Given the description of an element on the screen output the (x, y) to click on. 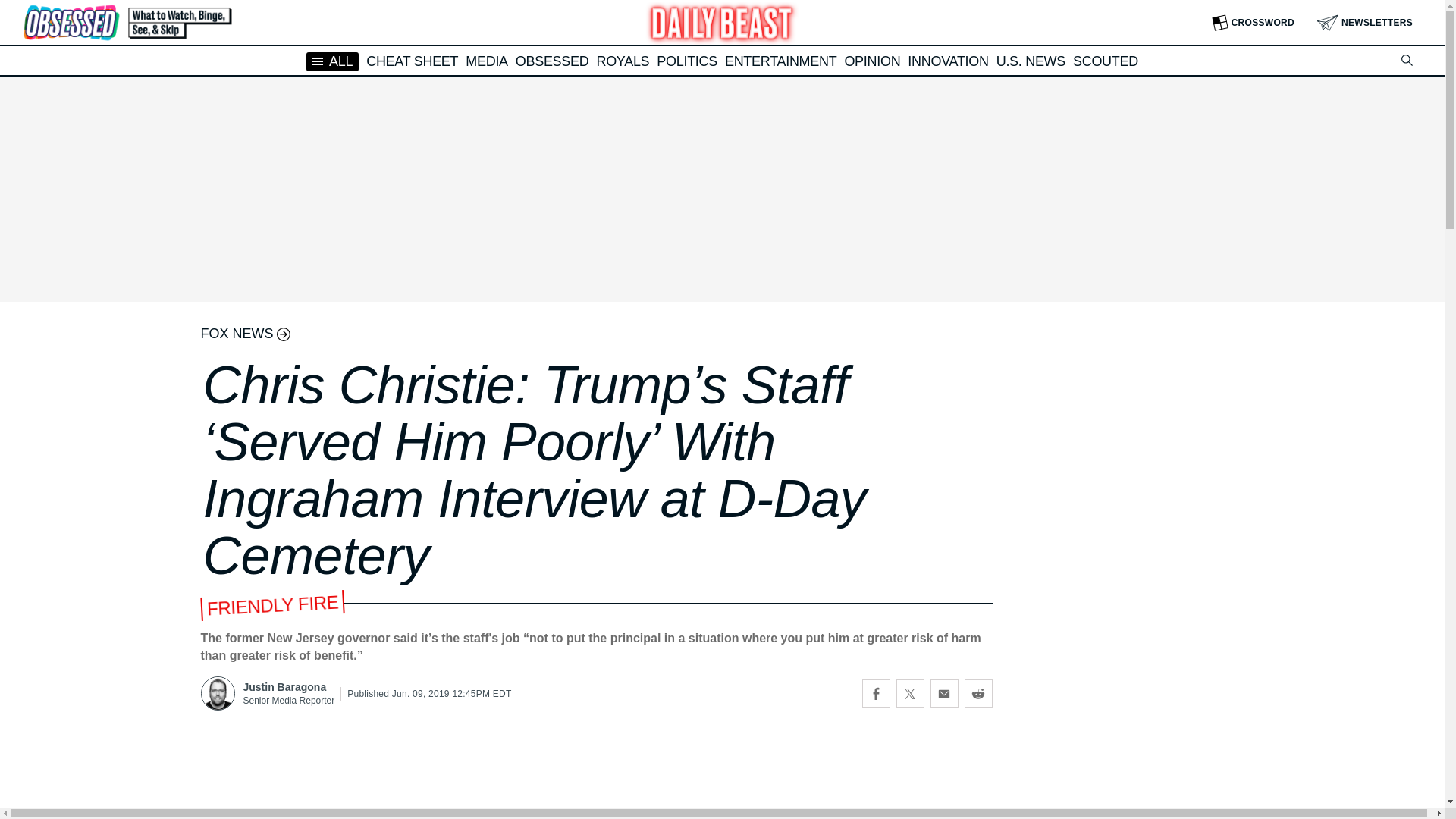
NEWSLETTERS (1364, 22)
OPINION (871, 60)
MEDIA (486, 60)
ENTERTAINMENT (780, 60)
OBSESSED (552, 60)
CHEAT SHEET (412, 60)
POLITICS (686, 60)
ROYALS (622, 60)
U.S. NEWS (1030, 60)
INNOVATION (947, 60)
